Given the description of an element on the screen output the (x, y) to click on. 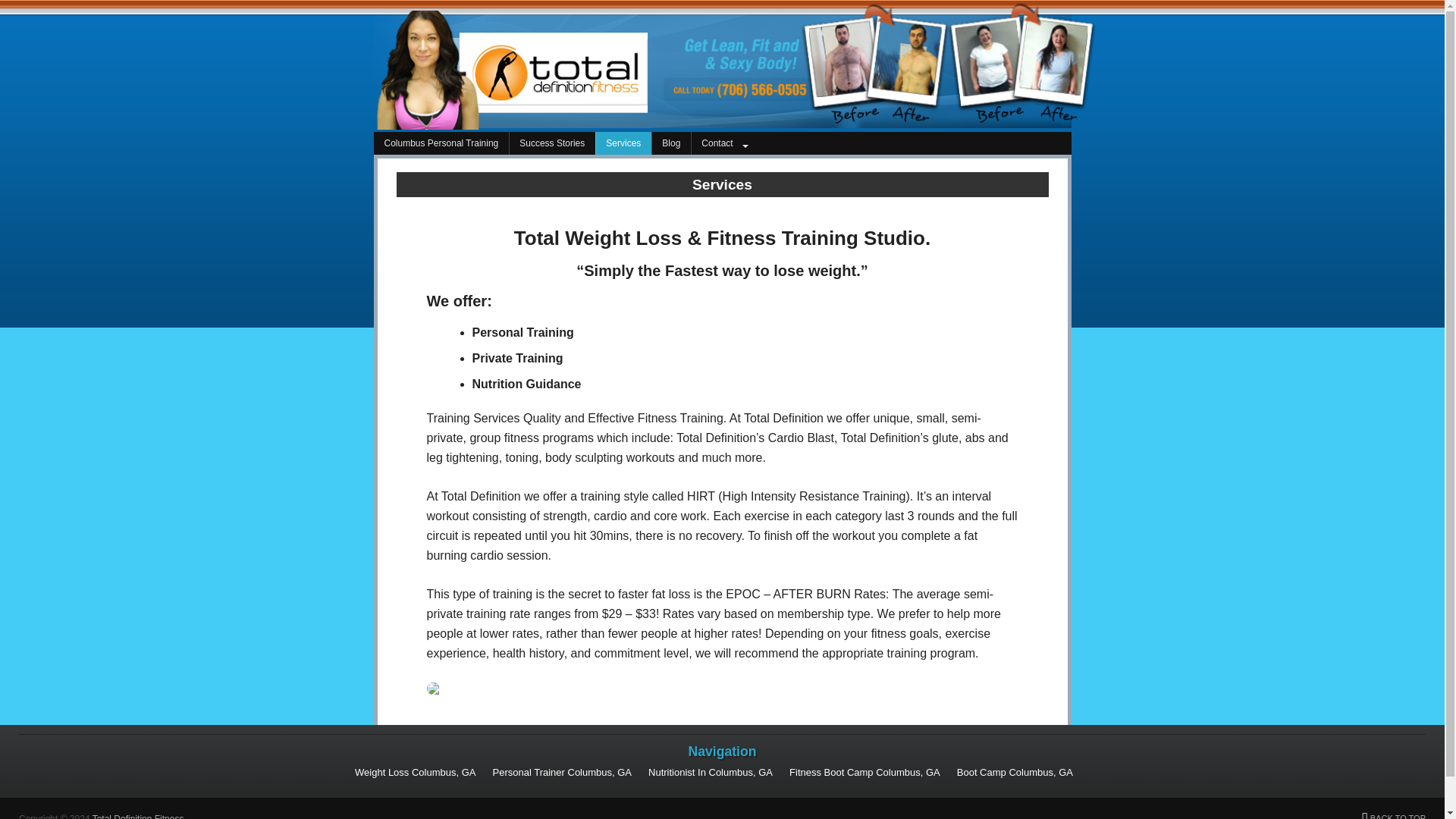
Success Stories (551, 142)
Total Definition Fitness (498, 124)
BACK TO TOP (1393, 816)
Personal Trainer Columbus, GA (562, 772)
Nutritionist In Columbus, GA (710, 772)
Columbus Personal Training (440, 142)
Weight Loss Columbus, GA (415, 772)
Total Definition Fitness (138, 816)
Boot Camp Columbus, GA (1014, 772)
Blog (670, 142)
Services (622, 142)
Contact (726, 142)
Fitness Boot Camp Columbus, GA (864, 772)
Total Definition Fitness (138, 816)
